Given the description of an element on the screen output the (x, y) to click on. 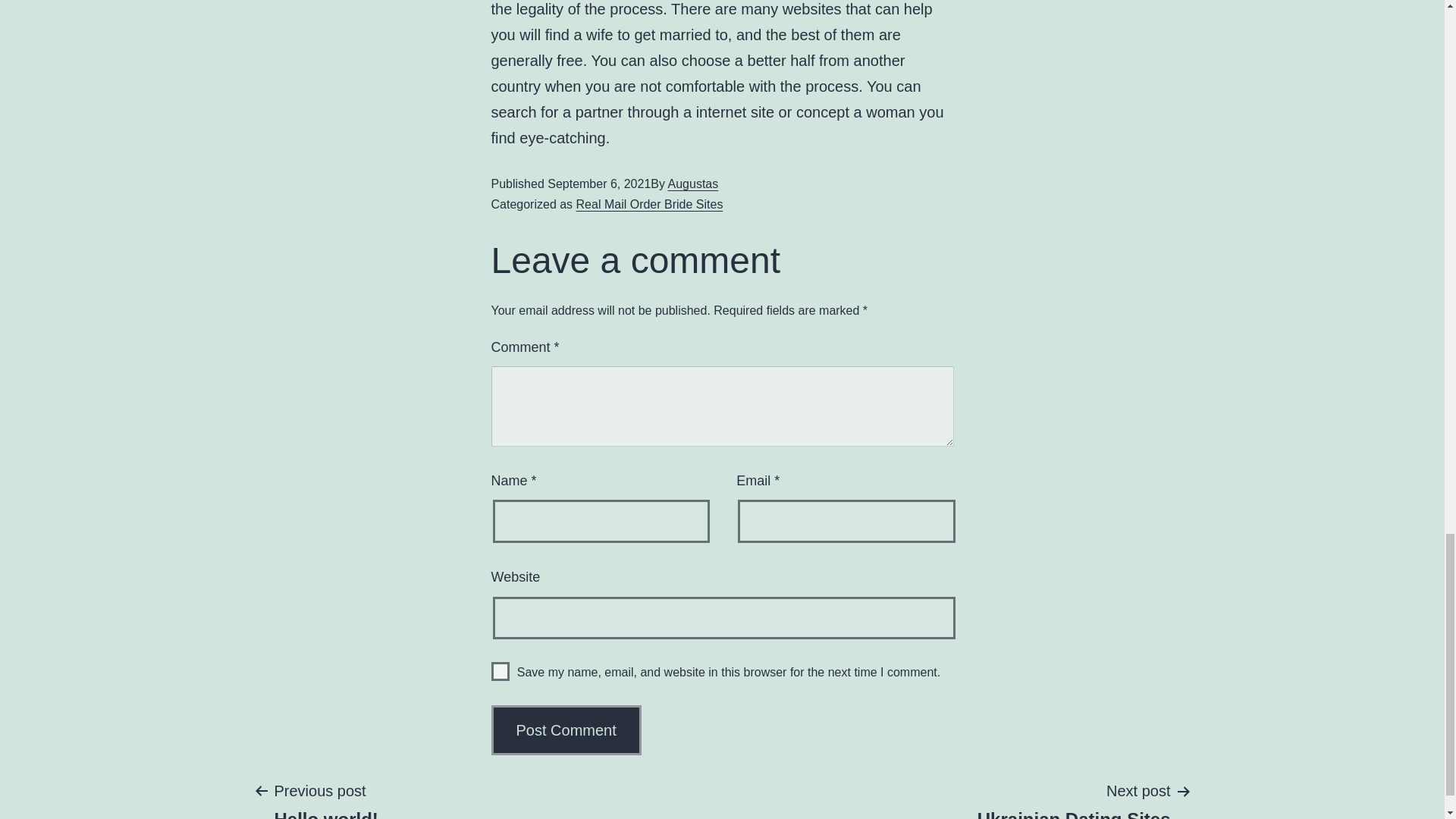
Augustas (693, 183)
Post Comment (567, 730)
Real Mail Order Bride Sites (324, 798)
Post Comment (649, 204)
yes (567, 730)
